Given the description of an element on the screen output the (x, y) to click on. 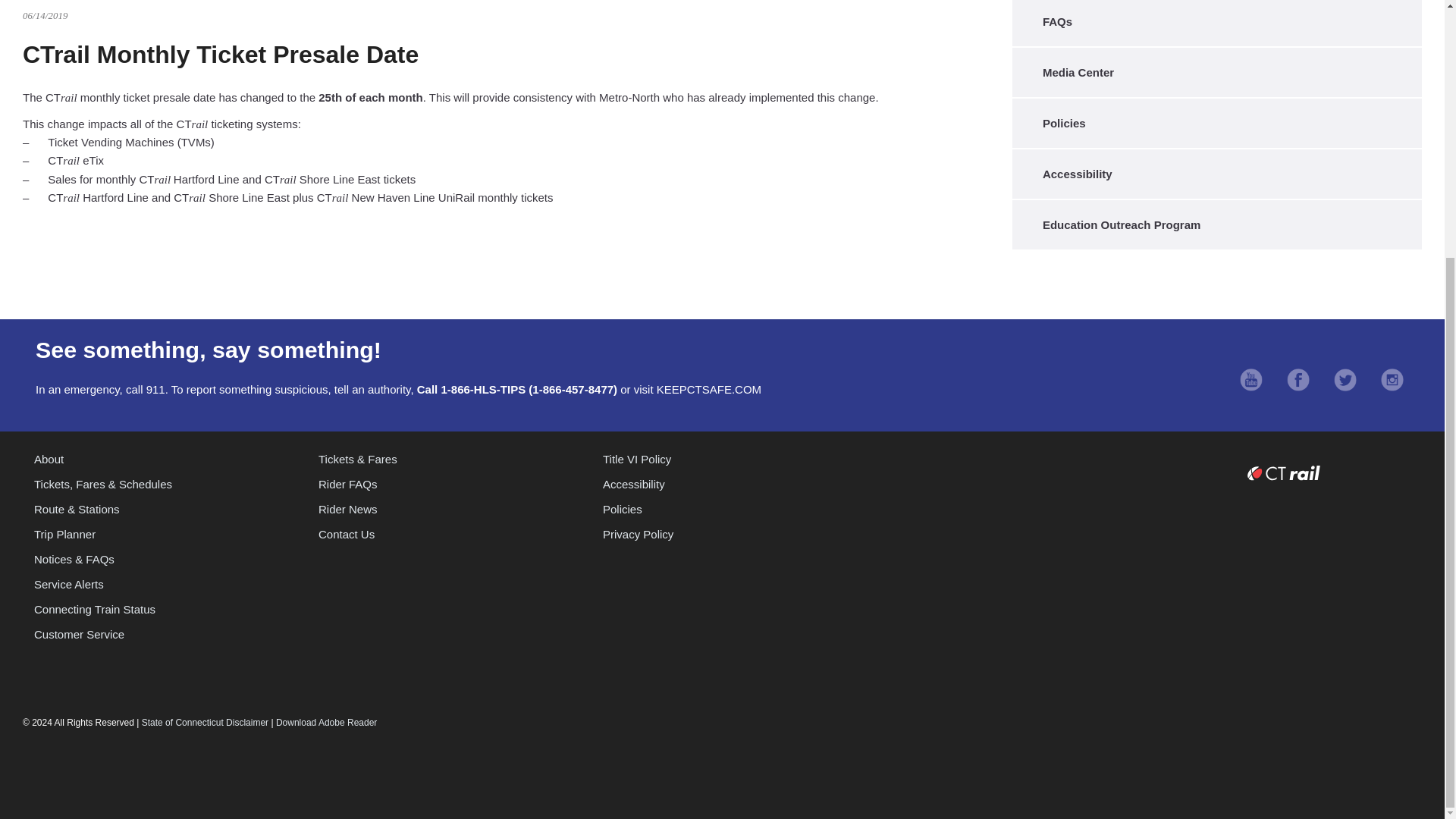
Opens in new window (1251, 380)
FAQs (1213, 21)
Opens in new window (1298, 380)
Policies (1213, 122)
Media Center (1213, 72)
Education Outreach Program (1213, 224)
Accessibility (1213, 173)
Opens in new window (1345, 380)
